Given the description of an element on the screen output the (x, y) to click on. 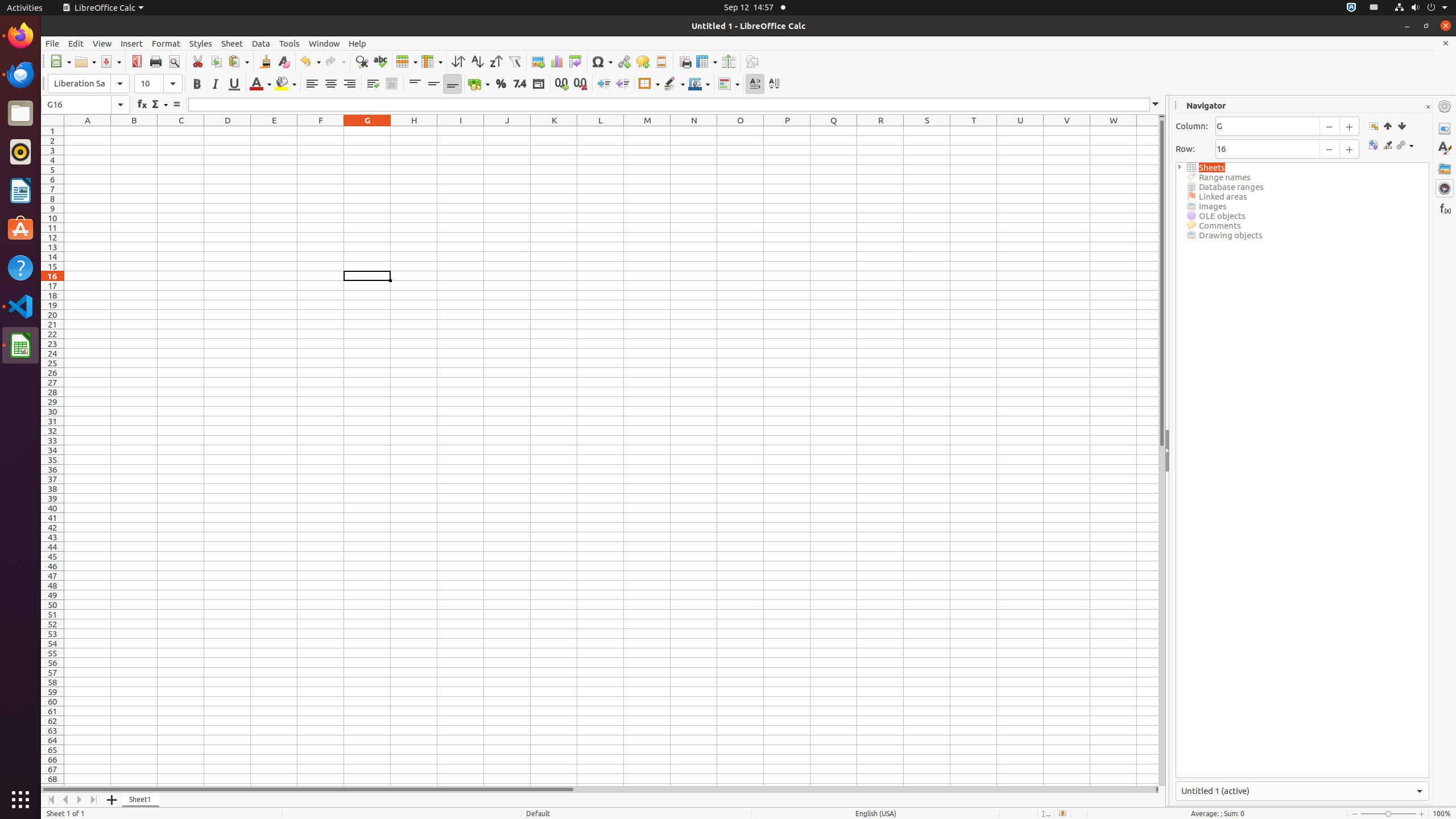
Redo Element type: push-button (334, 61)
Underline Element type: push-button (233, 83)
Align Right Element type: push-button (349, 83)
Sheet Element type: menu (231, 43)
Symbol Element type: push-button (601, 61)
